Given the description of an element on the screen output the (x, y) to click on. 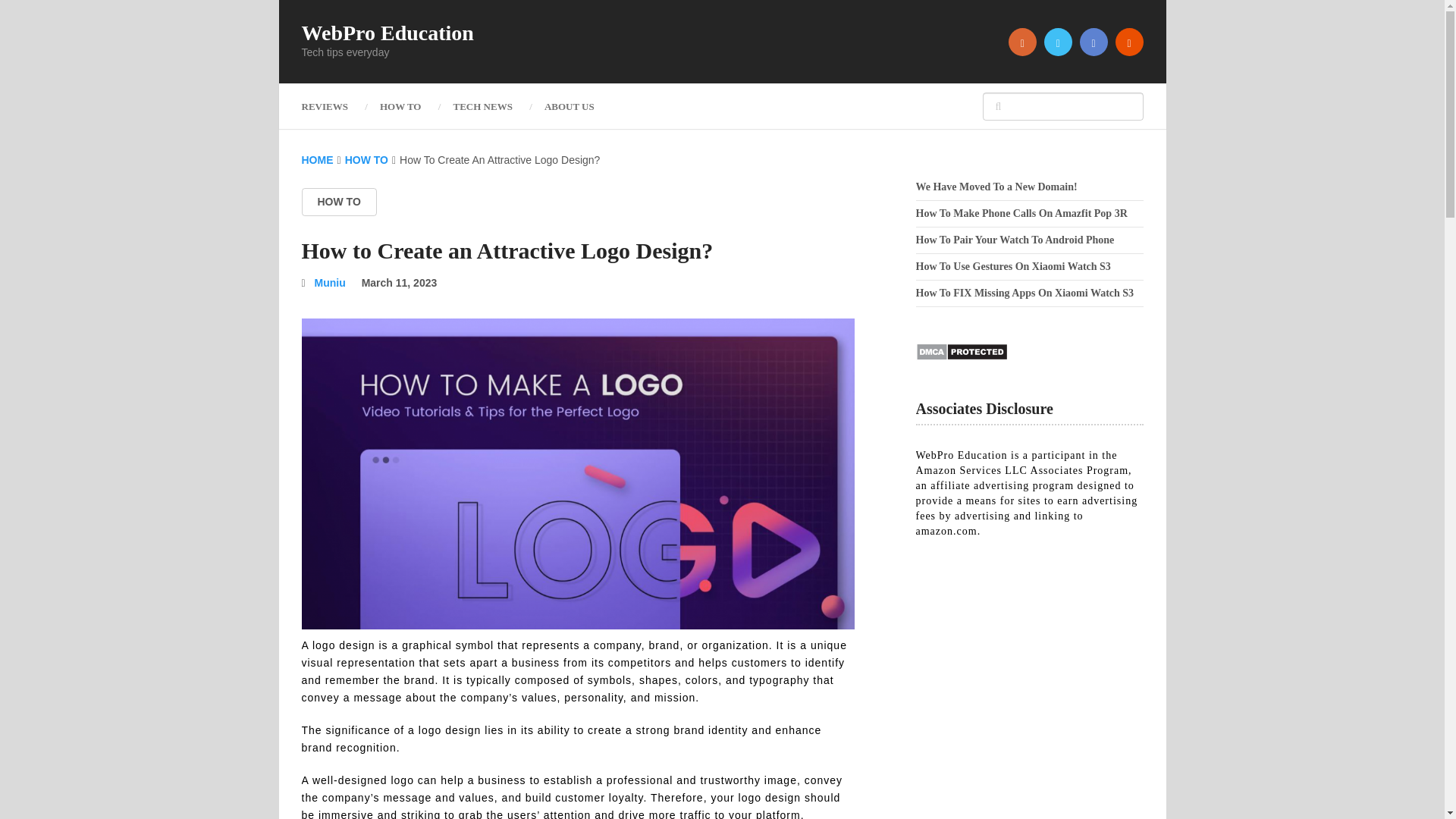
Posts by Muniu (330, 282)
How To Pair Your Watch To Android Phone (1015, 239)
View all posts in how to (339, 202)
TECH NEWS (481, 105)
HOW TO (339, 202)
How To Make Phone Calls On Amazfit Pop 3R (1020, 213)
Muniu (330, 282)
HOME (317, 159)
REVIEWS (332, 105)
HOW TO (366, 159)
